Given the description of an element on the screen output the (x, y) to click on. 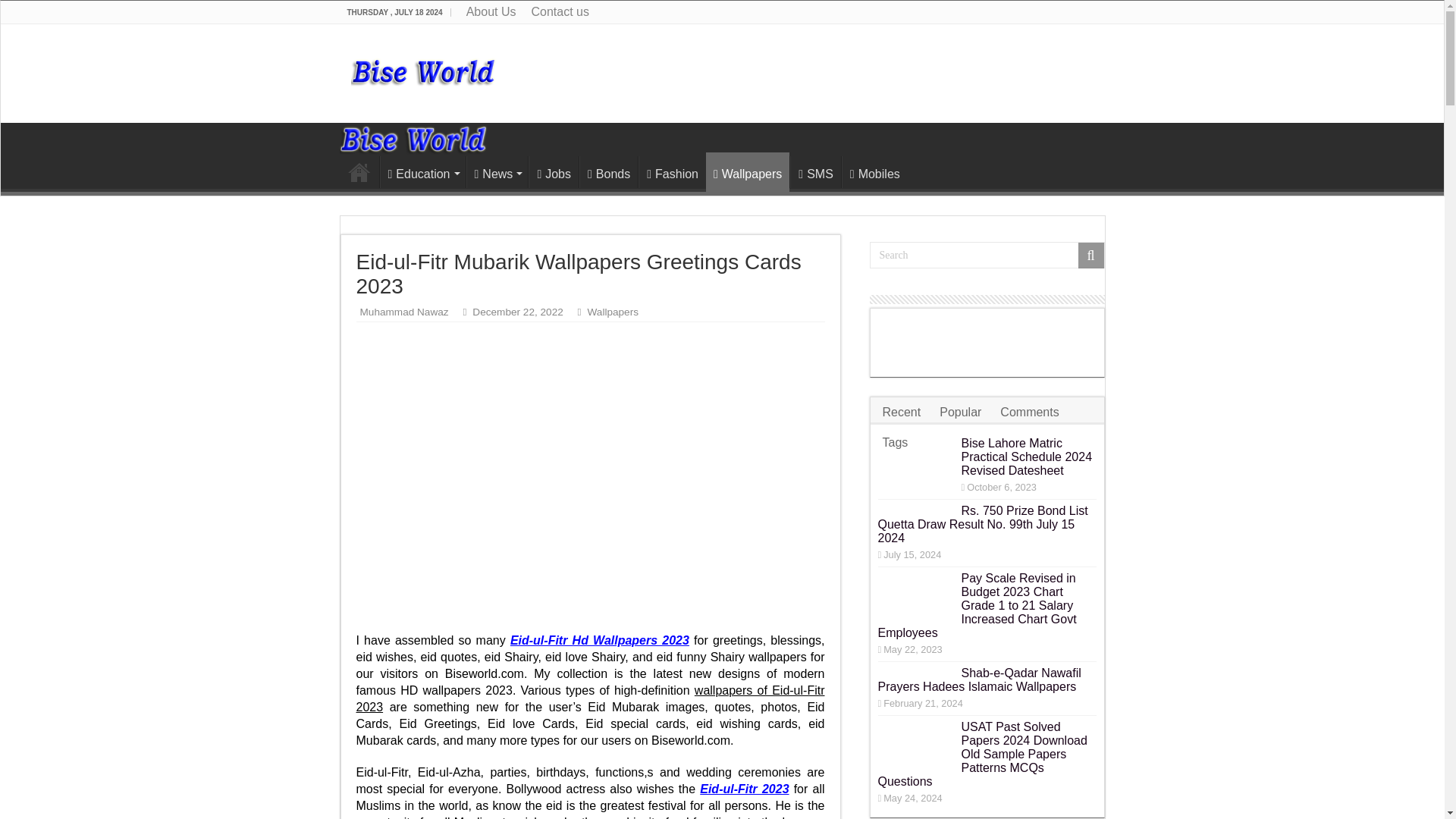
Eid-ul-Fitr Hd Wallpapers 2023 (599, 640)
News (496, 172)
About Us (491, 11)
Jobs (553, 172)
Eid-ul-Fitr Mubarak Wishing Greetings SMS (599, 640)
Bise World (413, 137)
Eid-ul-Fitr 2023 (744, 788)
Mobiles (874, 172)
SMS (815, 172)
Wallpapers (747, 171)
Bise World (423, 68)
Muhammad Nawaz (403, 311)
Contact us (558, 11)
Eid Eye Lashes Stylish Shades (744, 788)
Education (421, 172)
